Given the description of an element on the screen output the (x, y) to click on. 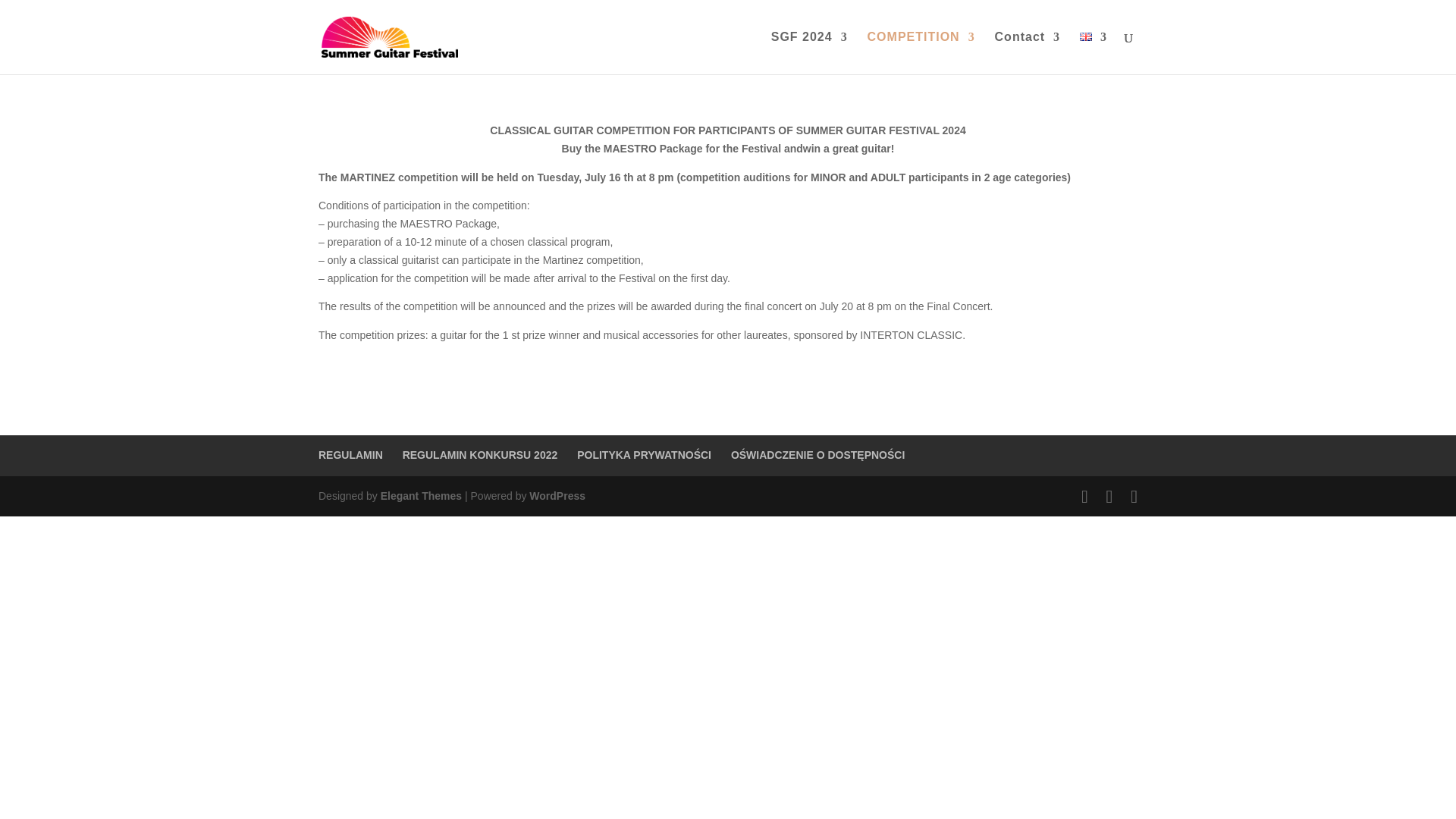
Premium WordPress Themes (420, 495)
REGULAMIN (350, 454)
Contact (1027, 52)
REGULAMIN KONKURSU 2022 (480, 454)
COMPETITION (921, 52)
WordPress (557, 495)
Elegant Themes (420, 495)
SGF 2024 (809, 52)
